Given the description of an element on the screen output the (x, y) to click on. 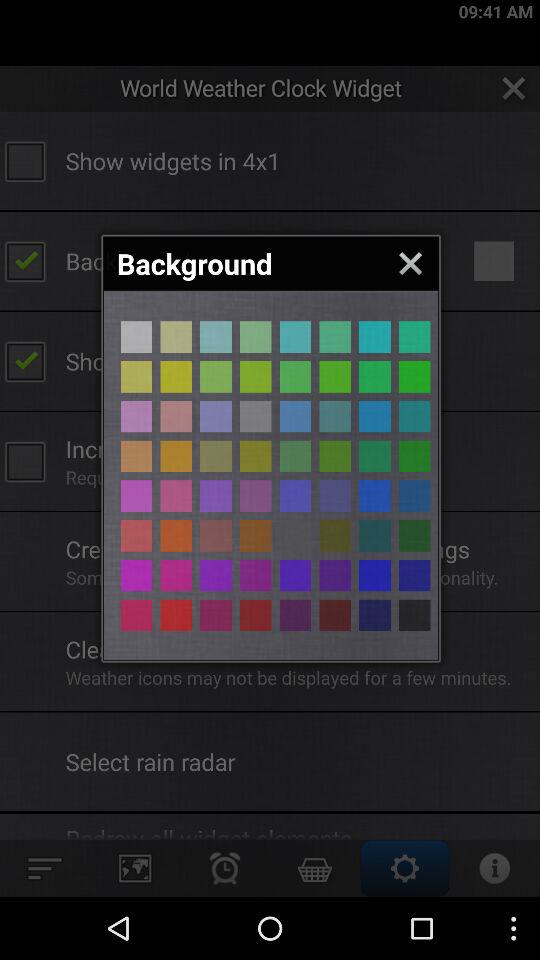
background colour button (255, 495)
